Given the description of an element on the screen output the (x, y) to click on. 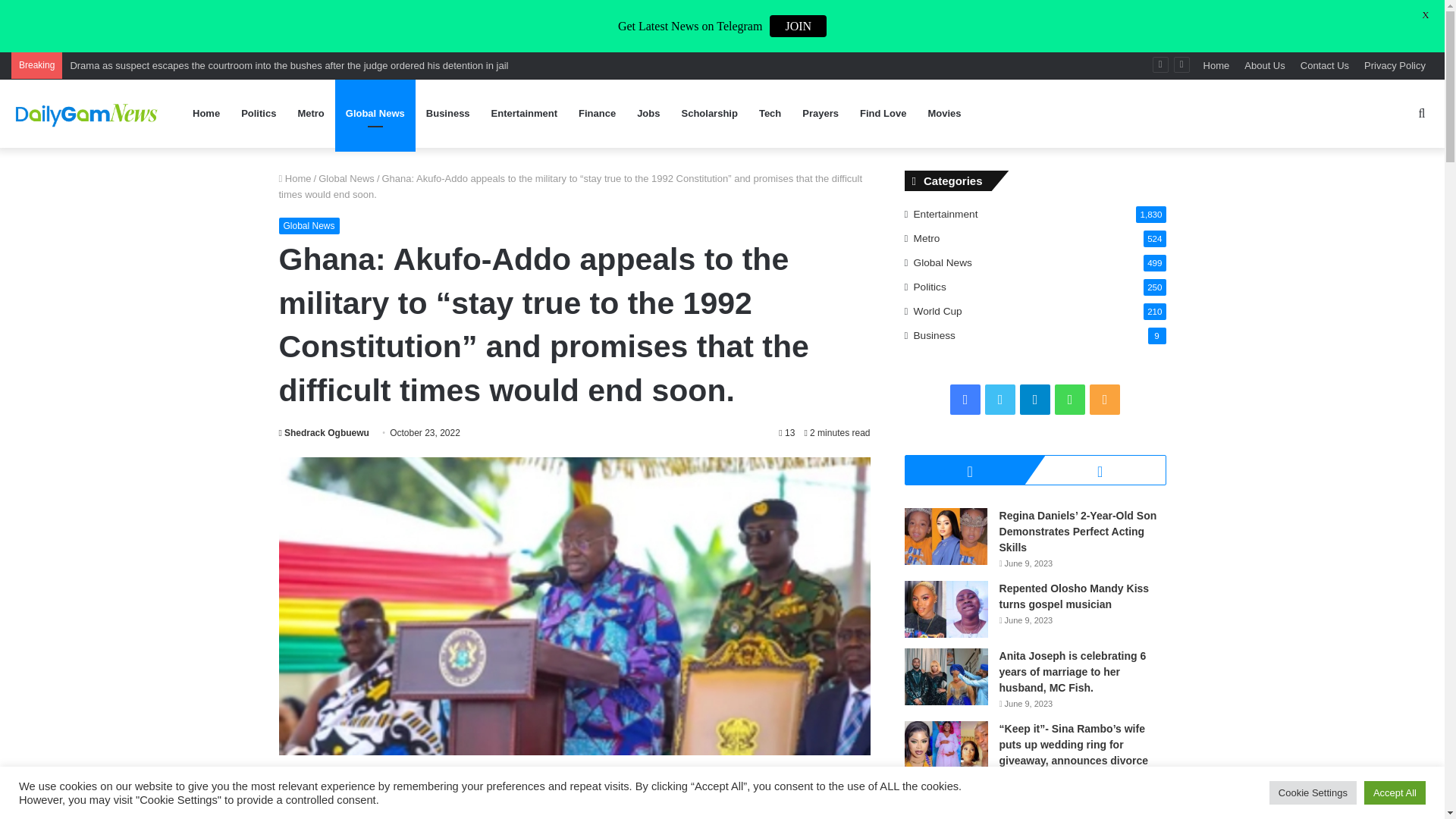
DailyGam News (87, 113)
Scholarship (708, 113)
Shedrack Ogbuewu (324, 432)
Global News (374, 113)
Shedrack Ogbuewu (324, 432)
Entertainment (523, 113)
Global News (309, 225)
Find Love (882, 113)
Take Action Now! (293, 14)
Home (295, 178)
Home (1216, 65)
About Us (1264, 65)
Contact Us (1324, 65)
Global News (346, 178)
